Given the description of an element on the screen output the (x, y) to click on. 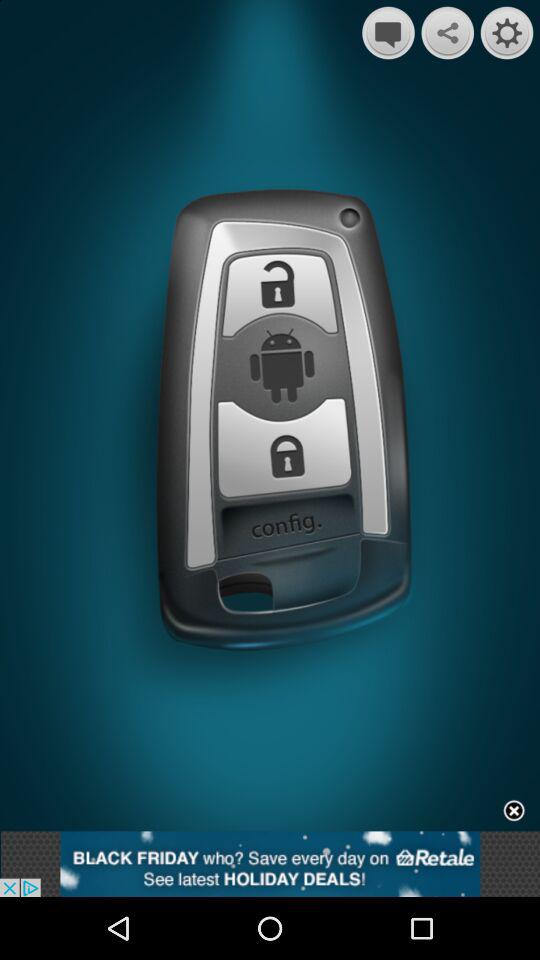
close advertisement banner (513, 811)
